Given the description of an element on the screen output the (x, y) to click on. 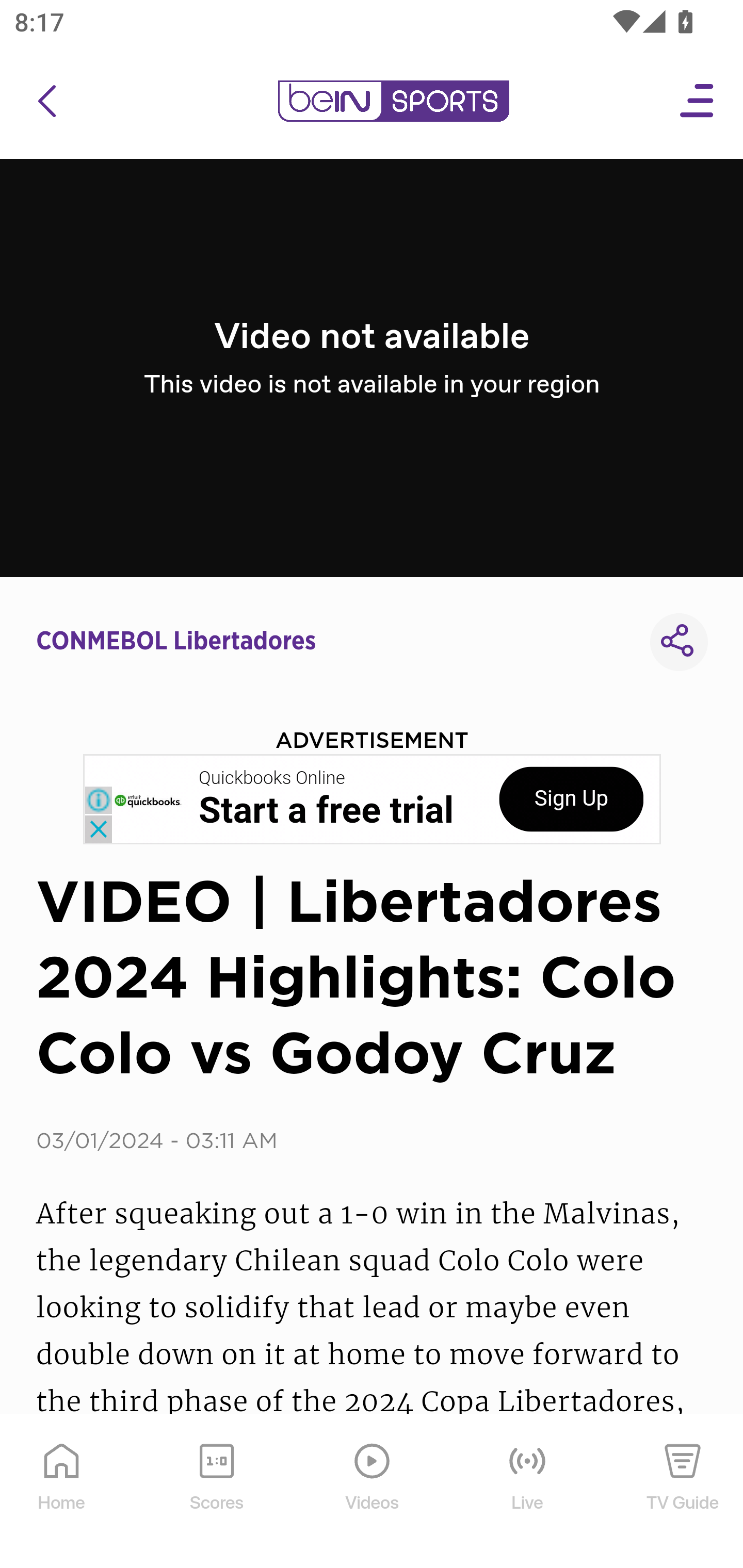
en-us?platform=mobile_android bein logo (392, 101)
icon back (46, 101)
Open Menu Icon (697, 101)
Quickbooks Online (272, 778)
Sign Up (571, 799)
Start a free trial (326, 810)
Home Home Icon Home (61, 1491)
Scores Scores Icon Scores (216, 1491)
Videos Videos Icon Videos (372, 1491)
TV Guide TV Guide Icon TV Guide (682, 1491)
